Given the description of an element on the screen output the (x, y) to click on. 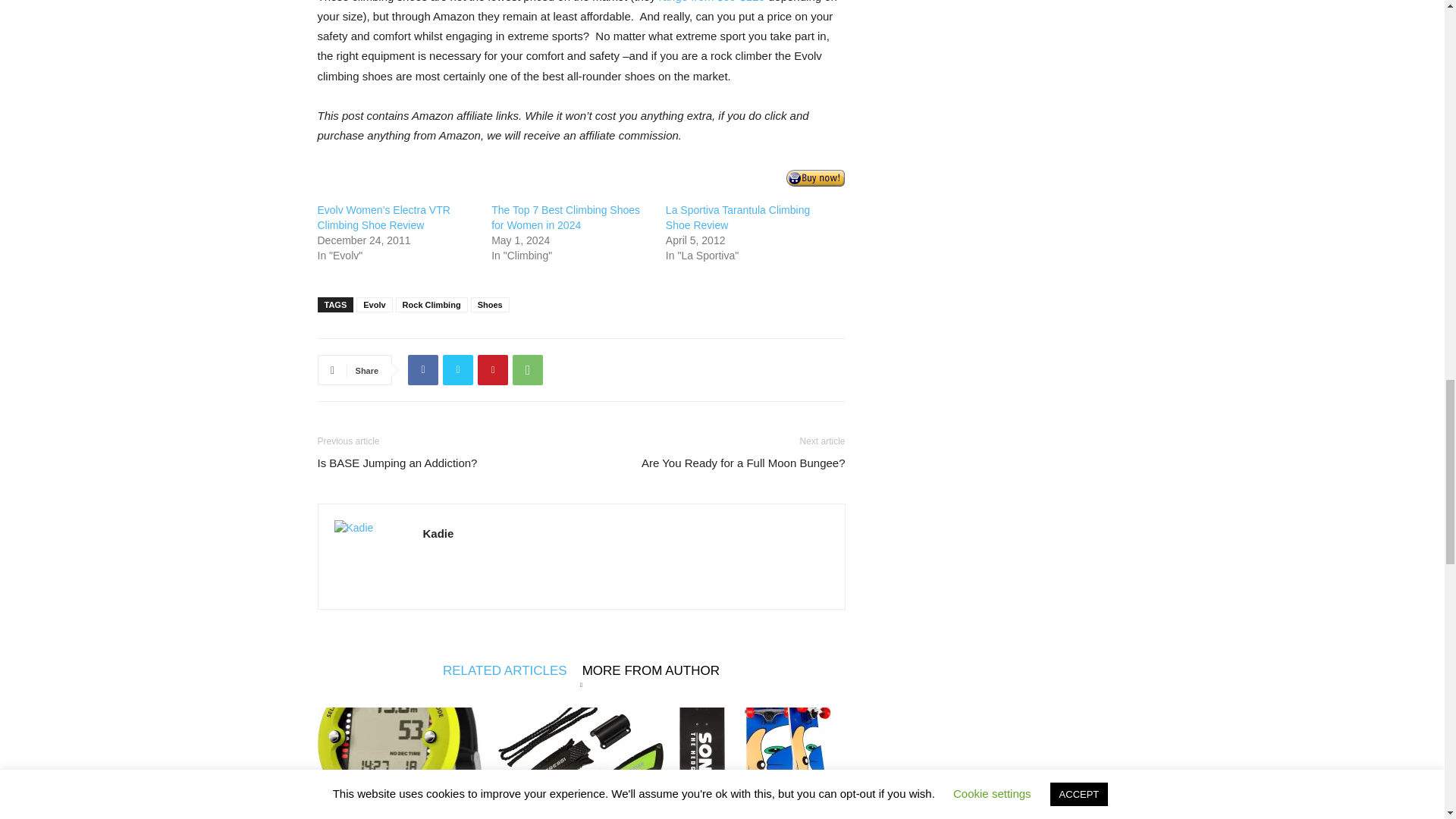
The Top 7 Best Climbing Shoes for Women in 2024 (566, 216)
Facebook (422, 369)
La Sportiva Tarantula Climbing Shoe Review (737, 216)
Twitter (457, 369)
buy-now (815, 177)
